Given the description of an element on the screen output the (x, y) to click on. 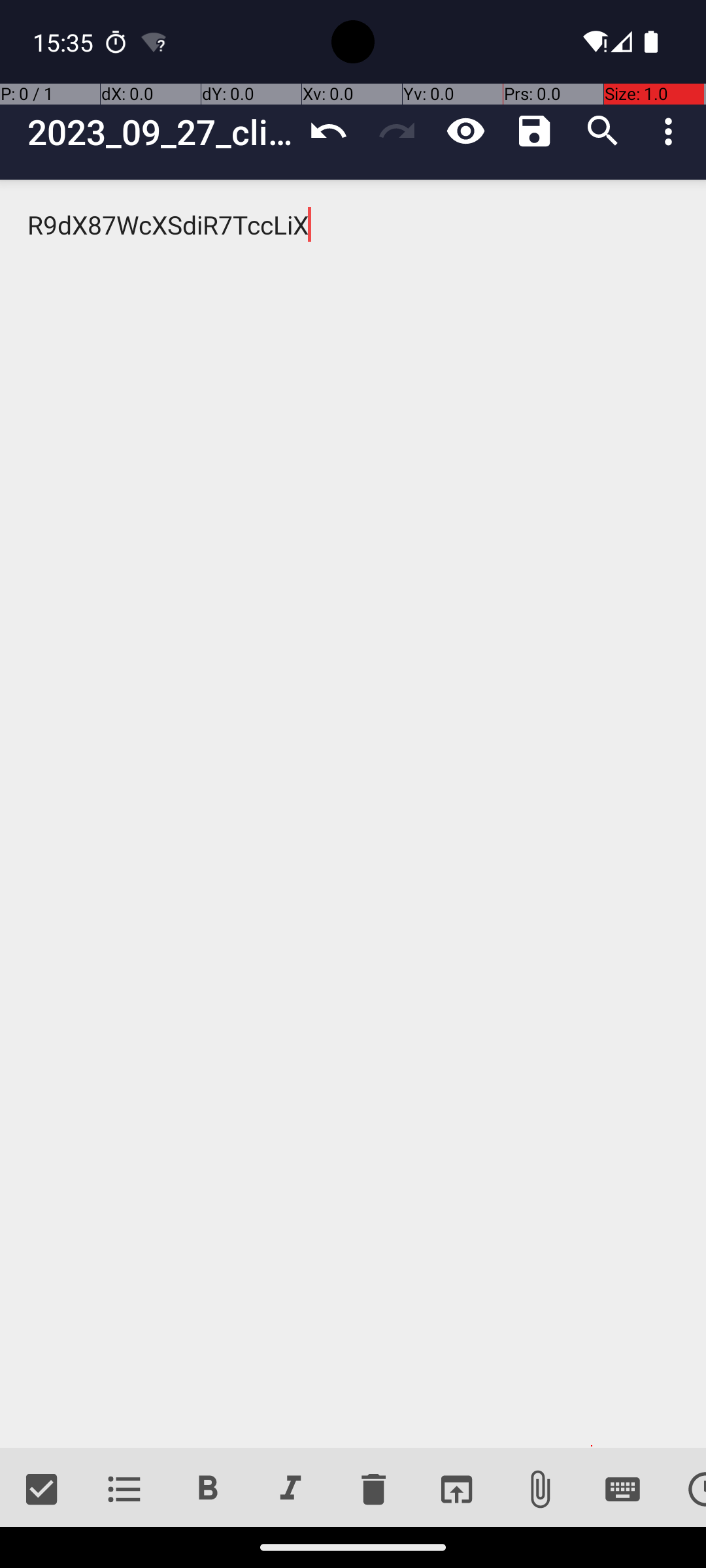
2023_09_27_client_meetings_schedule Element type: android.widget.TextView (160, 131)
Undo Element type: android.widget.TextView (328, 131)
Redo Element type: android.widget.TextView (396, 131)
View mode Element type: android.widget.TextView (465, 131)
R9dX87WcXSdiR7TccLiX Element type: android.widget.EditText (353, 813)
Check list Element type: android.widget.ImageView (41, 1488)
Unordered list Element type: android.widget.ImageView (124, 1488)
Bold Element type: android.widget.ImageView (207, 1488)
Italic Element type: android.widget.ImageView (290, 1488)
Delete lines Element type: android.widget.ImageView (373, 1488)
Open link Element type: android.widget.ImageView (456, 1488)
Attach Element type: android.widget.ImageView (539, 1488)
Special Key Element type: android.widget.ImageView (622, 1488)
Date and time Element type: android.widget.ImageView (685, 1488)
Android System notification: AndroidWifi has limited connectivity Element type: android.widget.ImageView (153, 41)
Wifi signal full.,No internet Element type: android.widget.FrameLayout (593, 41)
